Given the description of an element on the screen output the (x, y) to click on. 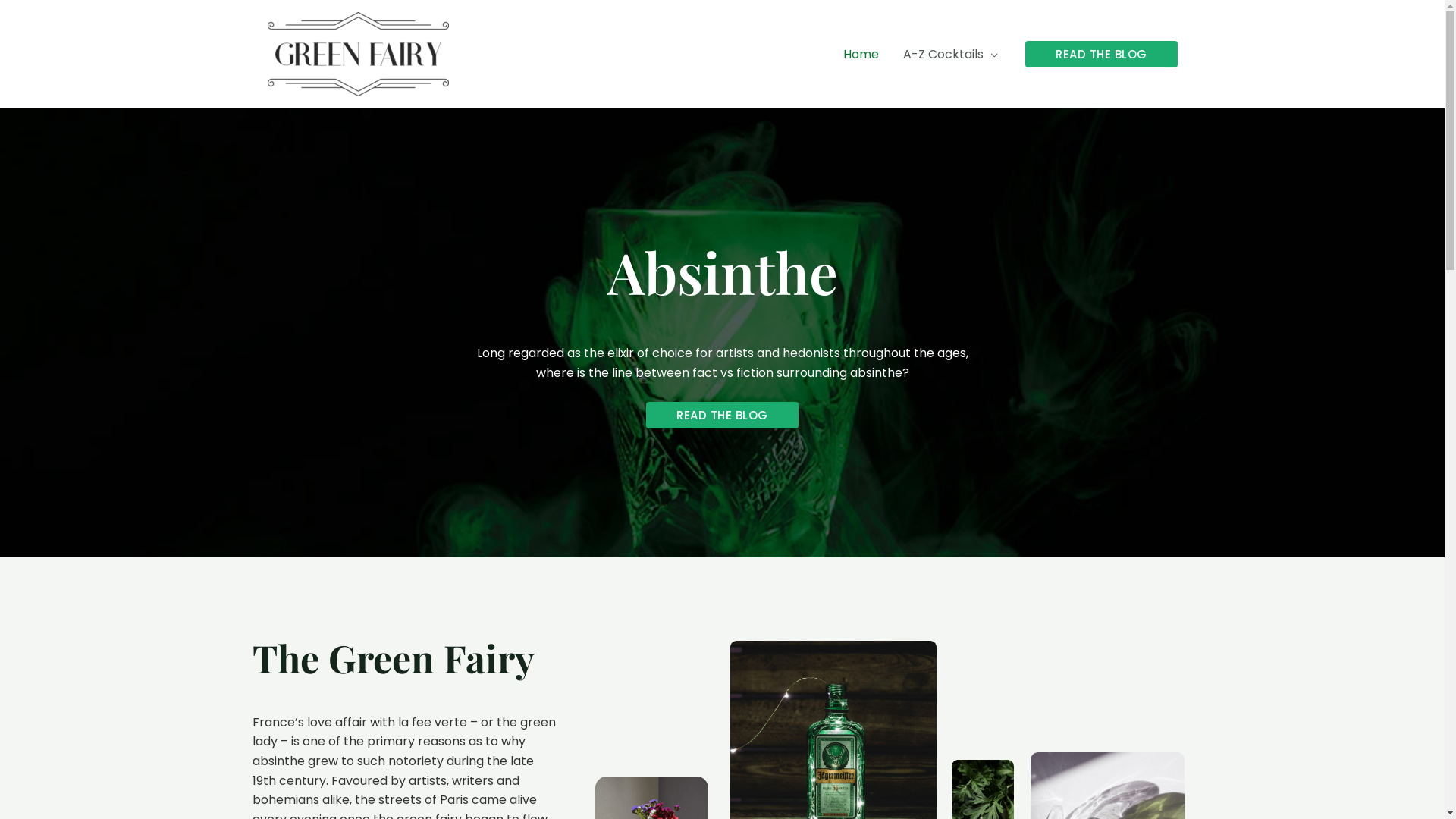
Home Element type: text (861, 53)
A-Z Cocktails Element type: text (950, 53)
READ THE BLOG Element type: text (722, 414)
READ THE BLOG Element type: text (1101, 53)
